Given the description of an element on the screen output the (x, y) to click on. 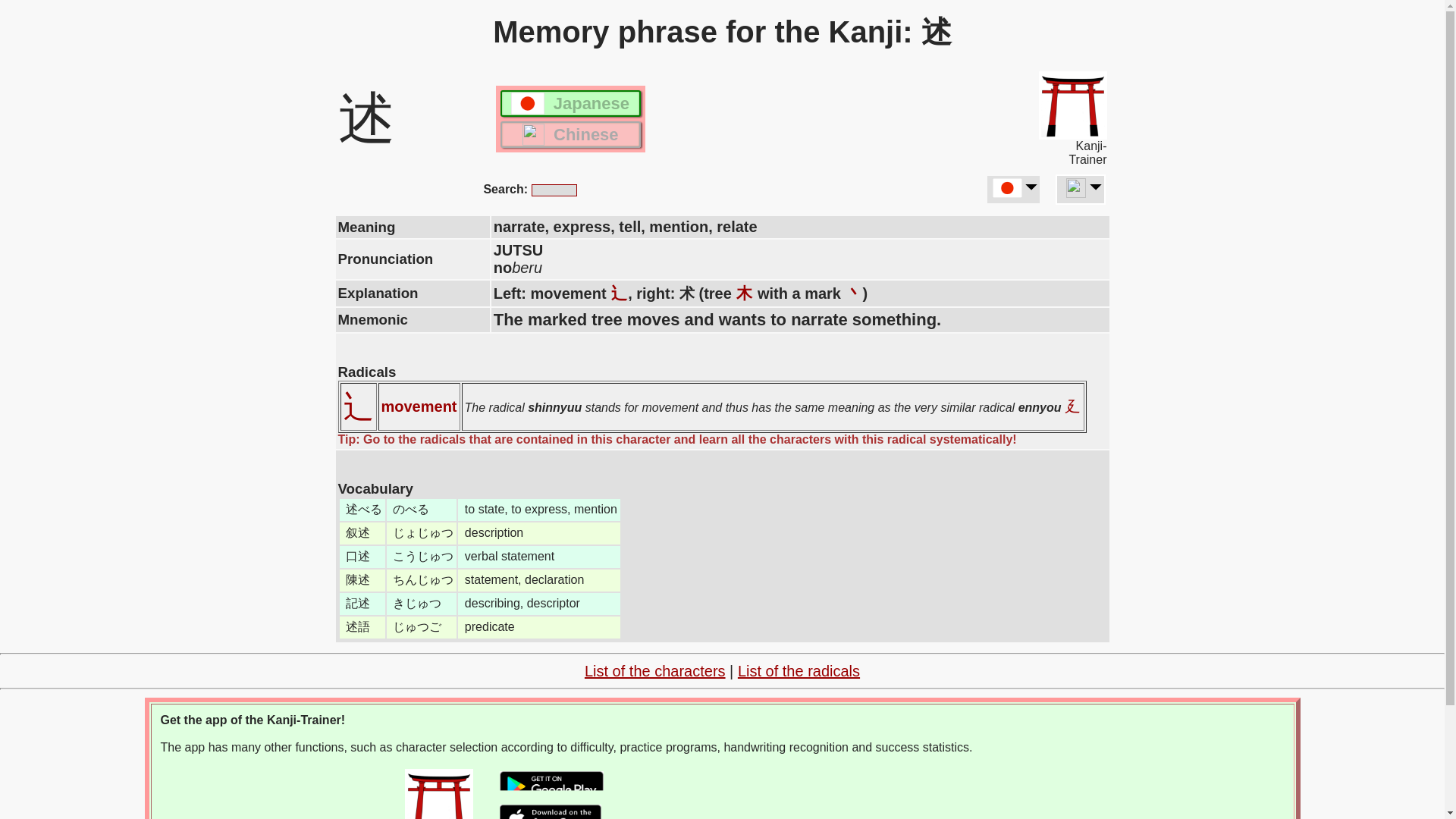
List of the radicals (799, 670)
  Japanese (570, 103)
  Chinese (570, 134)
movement (418, 406)
List of the characters (655, 670)
